Given the description of an element on the screen output the (x, y) to click on. 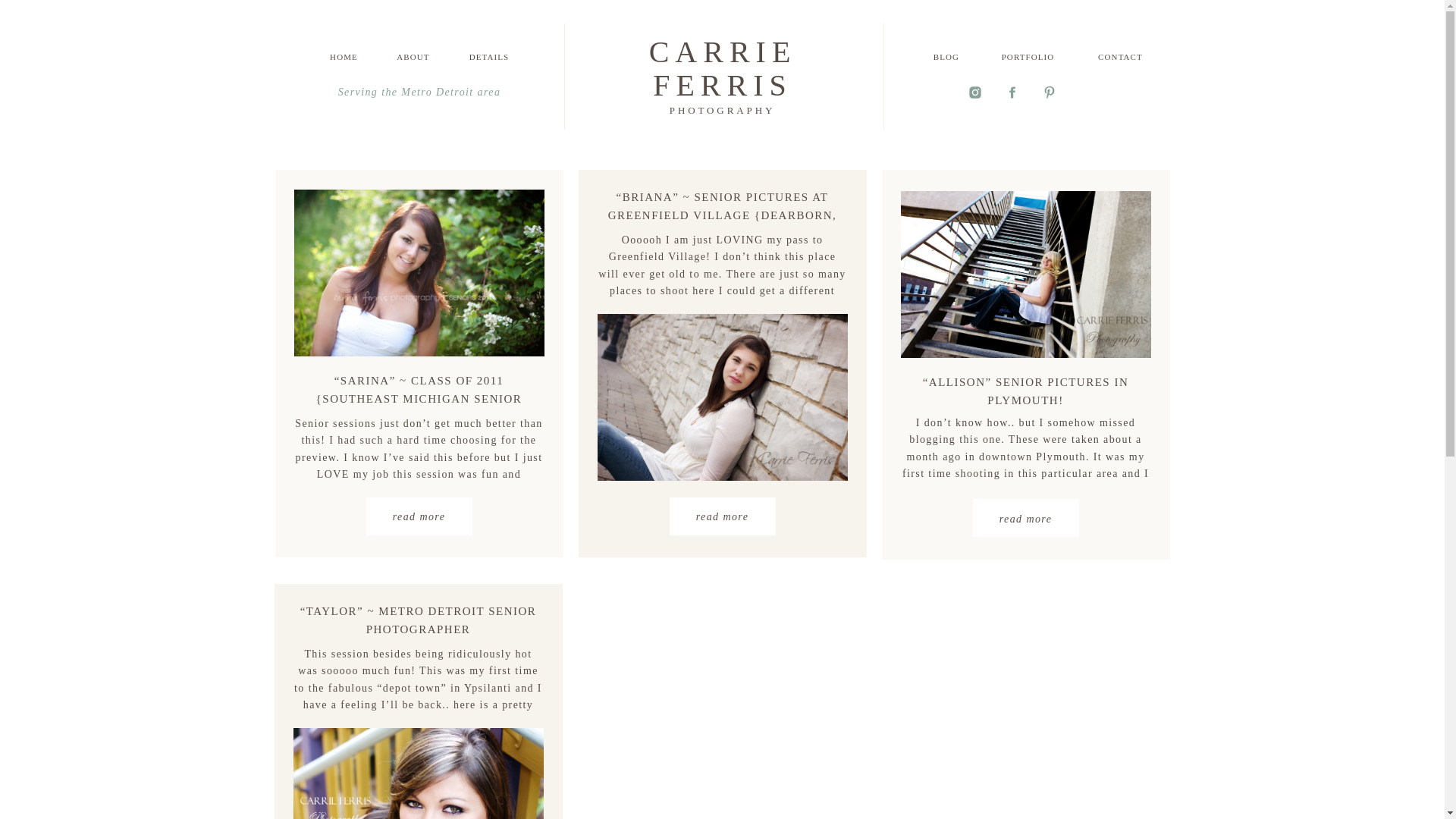
PORTFOLIO (722, 69)
CONTACT (1027, 63)
DETAILS (1120, 63)
PHOTOGRAPHY (489, 63)
BLOG (720, 109)
ABOUT (946, 63)
read more (413, 63)
HOME (1025, 519)
read more (343, 63)
read more (721, 516)
